Given the description of an element on the screen output the (x, y) to click on. 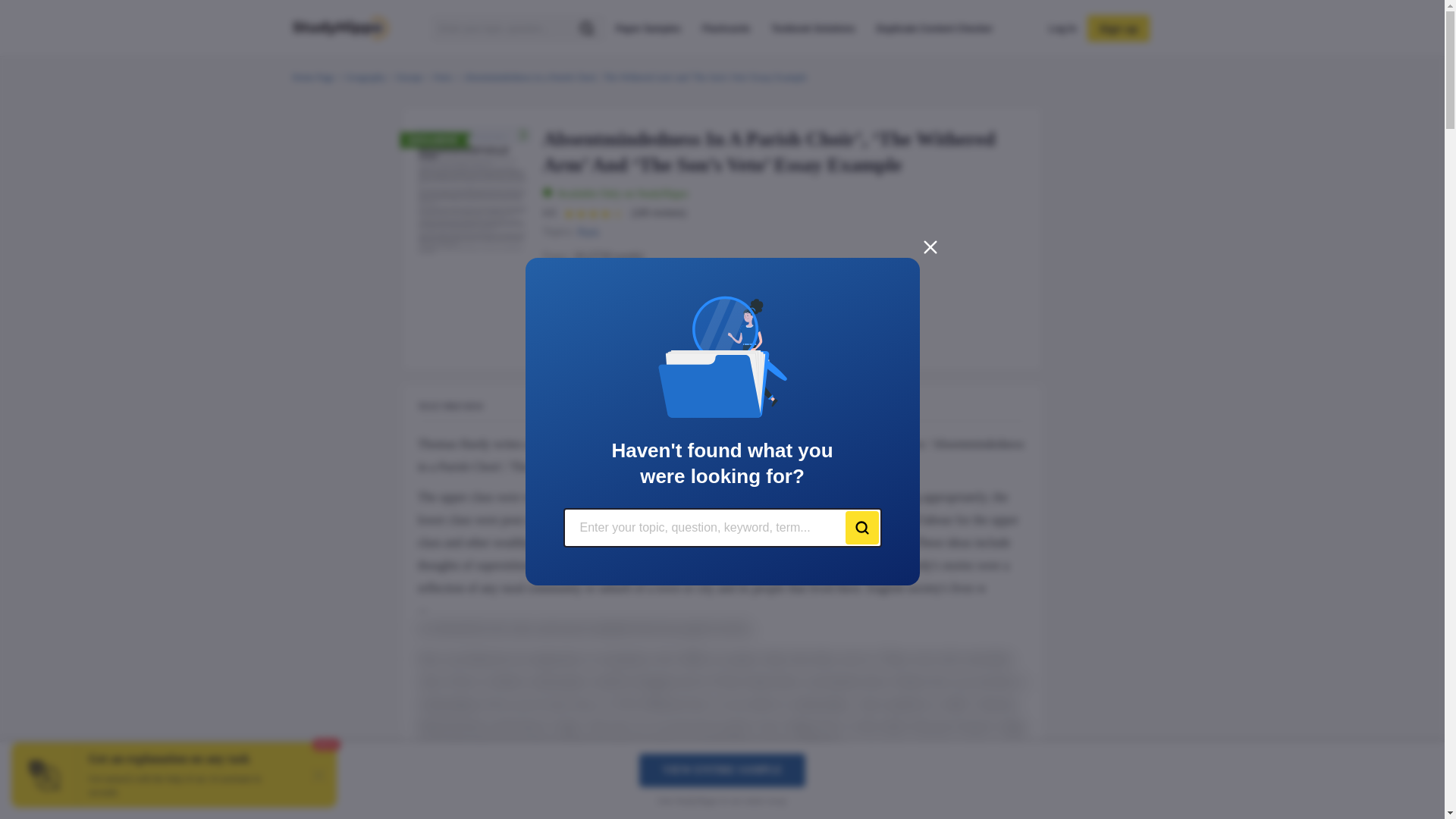
Paper Samples (648, 28)
Home Page (313, 77)
Log In (1061, 28)
Textbook Solutions (812, 28)
Essay (581, 305)
Europe (409, 77)
Sign up (1117, 28)
Duplicate Content Checker (934, 28)
Paris (588, 232)
Paris (442, 77)
DOWNLOAD SAMPLE (799, 341)
Flashcards (725, 28)
Geography (365, 77)
